Given the description of an element on the screen output the (x, y) to click on. 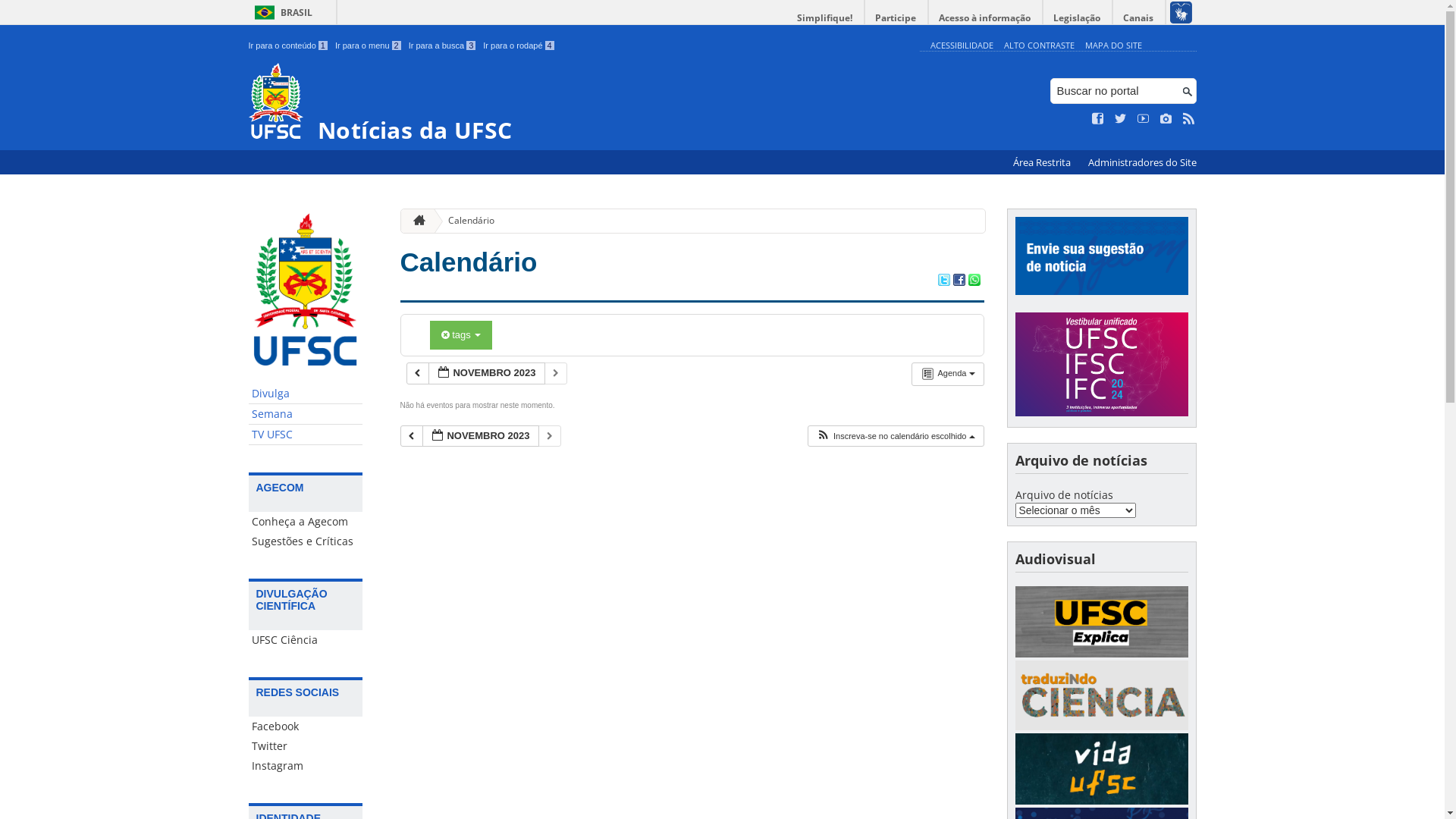
Instagram Element type: text (305, 765)
Administradores do Site Element type: text (1141, 162)
Ir para o menu 2 Element type: text (368, 45)
NOVEMBRO 2023 Element type: text (479, 436)
TV UFSC Element type: text (305, 434)
Participe Element type: text (895, 18)
Canais Element type: text (1138, 18)
Veja no Instagram Element type: hover (1166, 118)
Facebook Element type: text (305, 726)
Simplifique! Element type: text (825, 18)
Compartilhar no Twitter Element type: hover (943, 280)
NOVEMBRO 2023 Element type: text (485, 373)
Compartilhar no WhatsApp Element type: hover (973, 280)
Limpar filtro de tag Element type: hover (446, 334)
BRASIL Element type: text (280, 12)
ALTO CONTRASTE Element type: text (1039, 44)
Semana Element type: text (305, 414)
Agenda Element type: text (947, 373)
Compartilhar no Facebook Element type: hover (958, 280)
ACESSIBILIDADE Element type: text (960, 44)
Siga no Twitter Element type: hover (1120, 118)
tags Element type: text (460, 335)
MAPA DO SITE Element type: text (1112, 44)
Twitter Element type: text (305, 746)
Curta no Facebook Element type: hover (1098, 118)
Divulga Element type: text (305, 393)
Ir para a busca 3 Element type: text (442, 45)
